Given the description of an element on the screen output the (x, y) to click on. 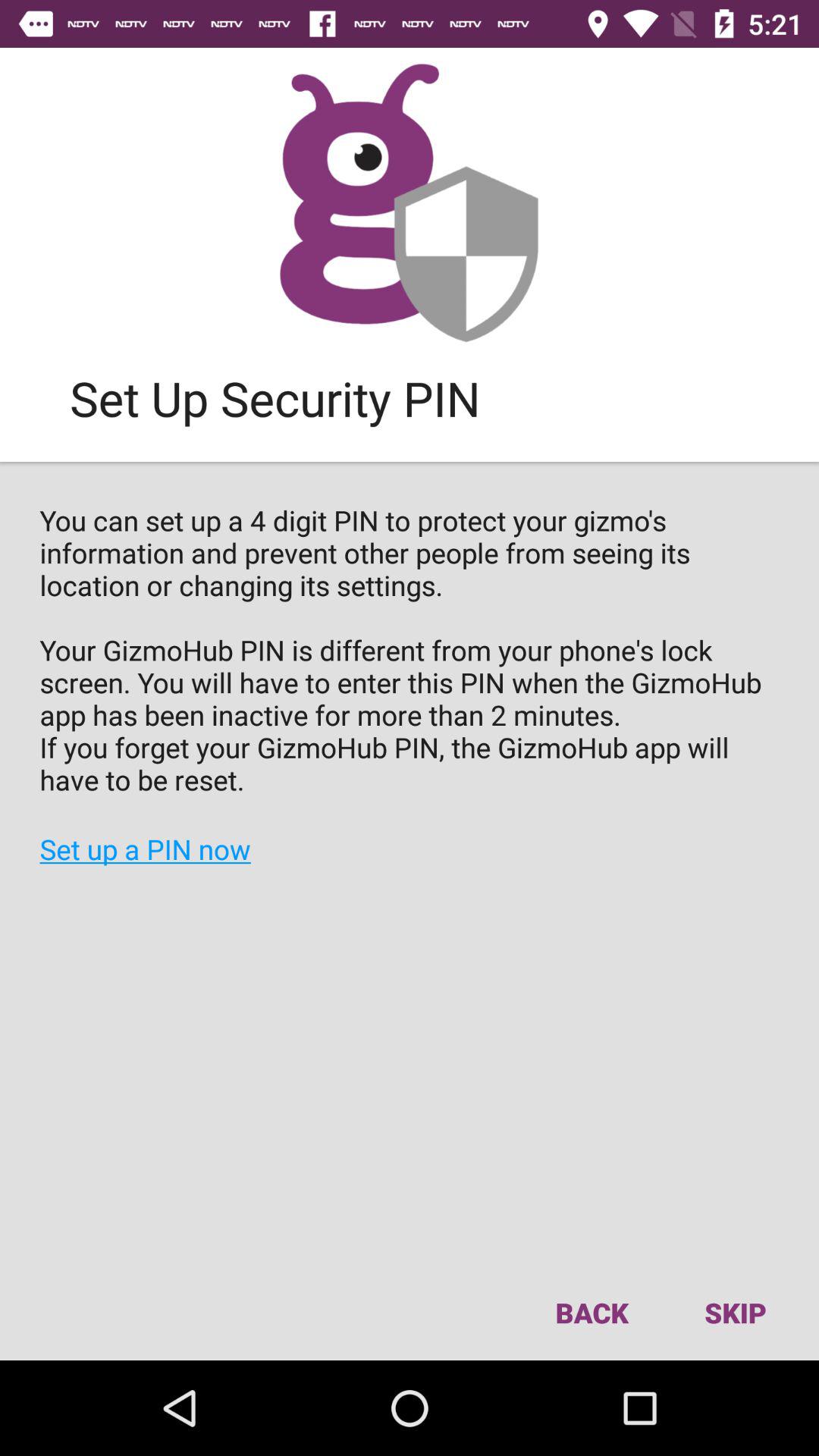
choose icon to the left of the skip item (591, 1312)
